Given the description of an element on the screen output the (x, y) to click on. 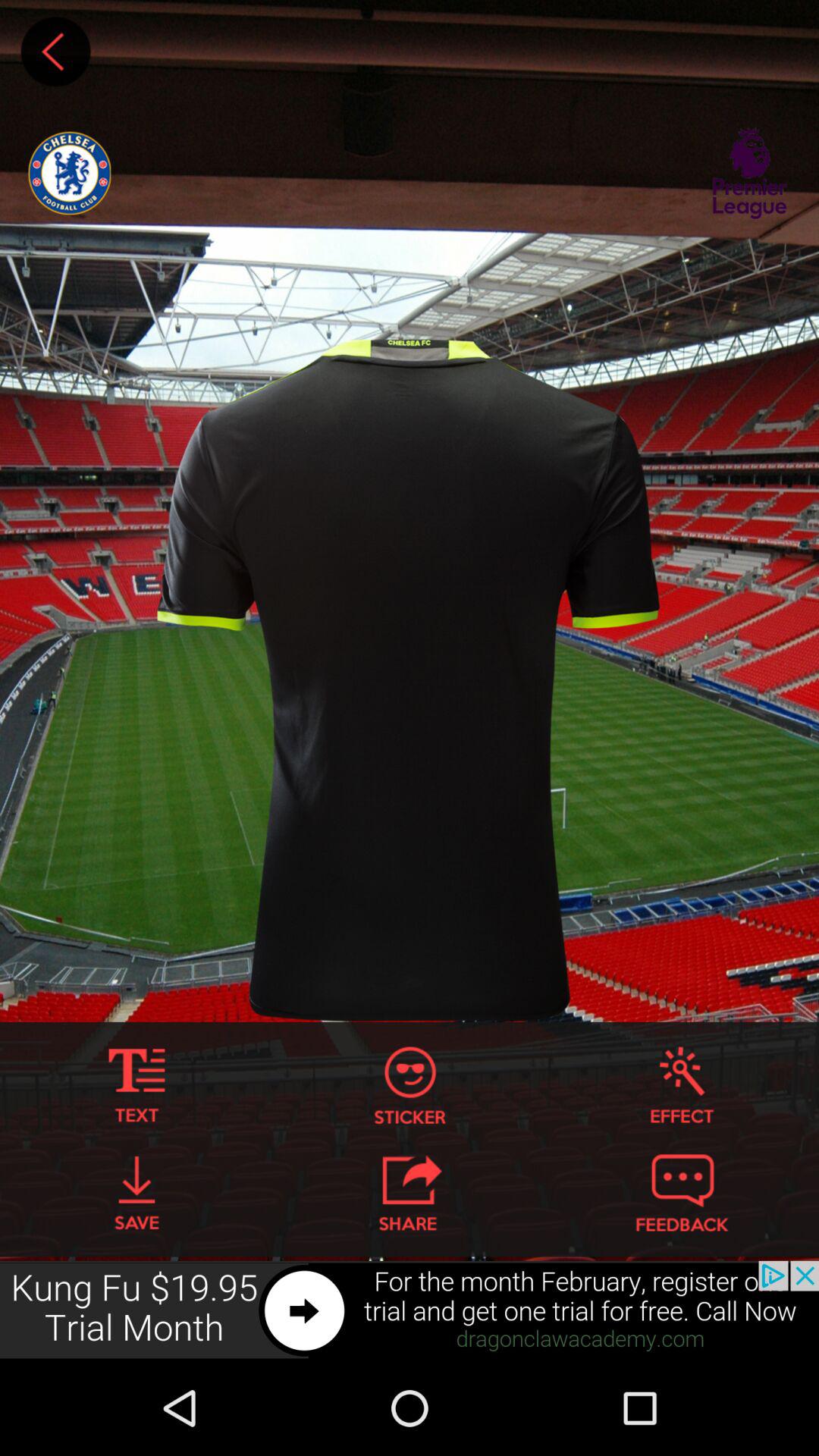
sticker (409, 1085)
